Given the description of an element on the screen output the (x, y) to click on. 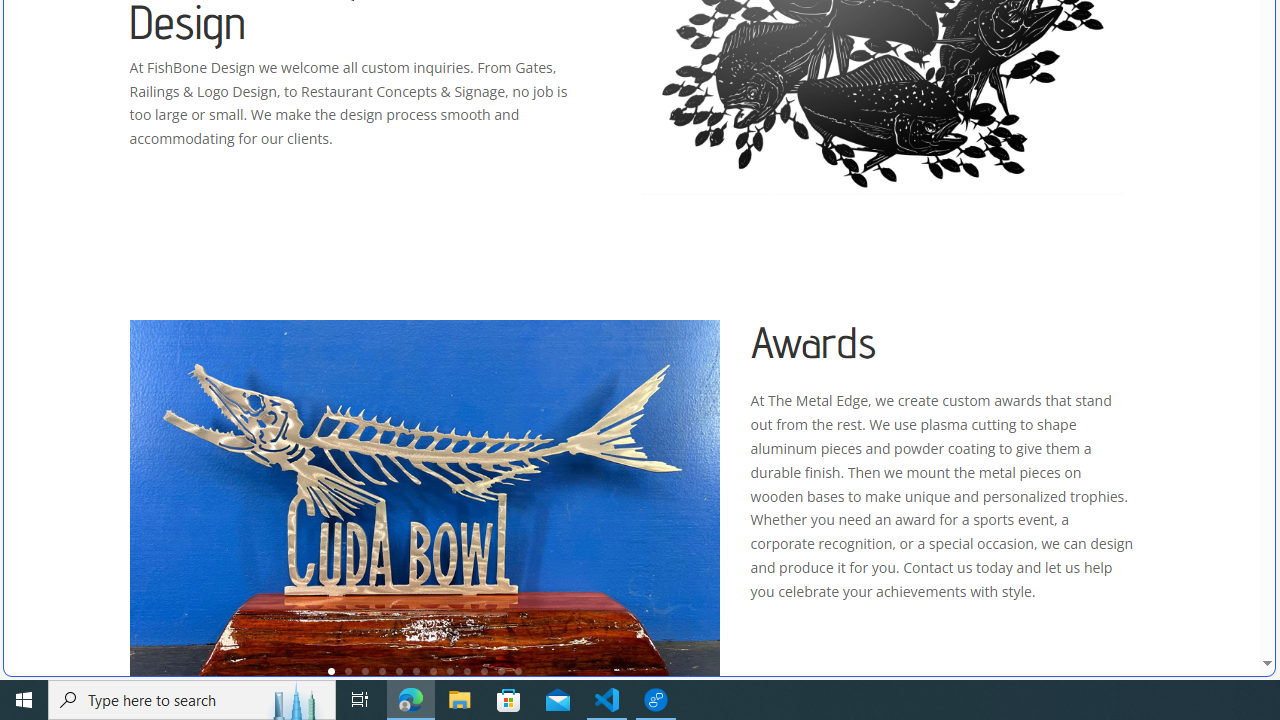
1 (331, 670)
11 (501, 670)
9 (467, 670)
10 (484, 670)
2 (348, 670)
7 (433, 670)
3 (365, 670)
6 (416, 670)
12 (518, 670)
5 (399, 670)
4 (382, 670)
8 (450, 670)
